Given the description of an element on the screen output the (x, y) to click on. 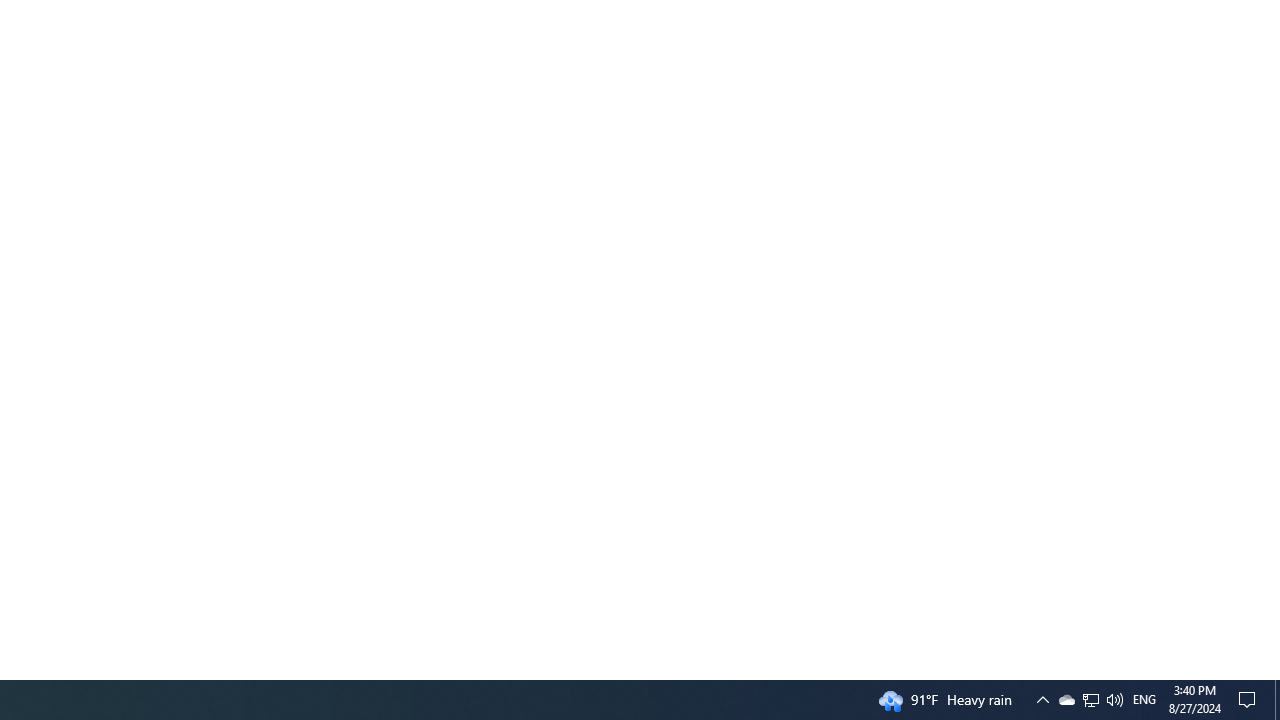
Tray Input Indicator - English (United States) (1144, 699)
Action Center, No new notifications (1091, 699)
User Promoted Notification Area (1250, 699)
Show desktop (1066, 699)
Notification Chevron (1090, 699)
Q2790: 100% (1277, 699)
